Given the description of an element on the screen output the (x, y) to click on. 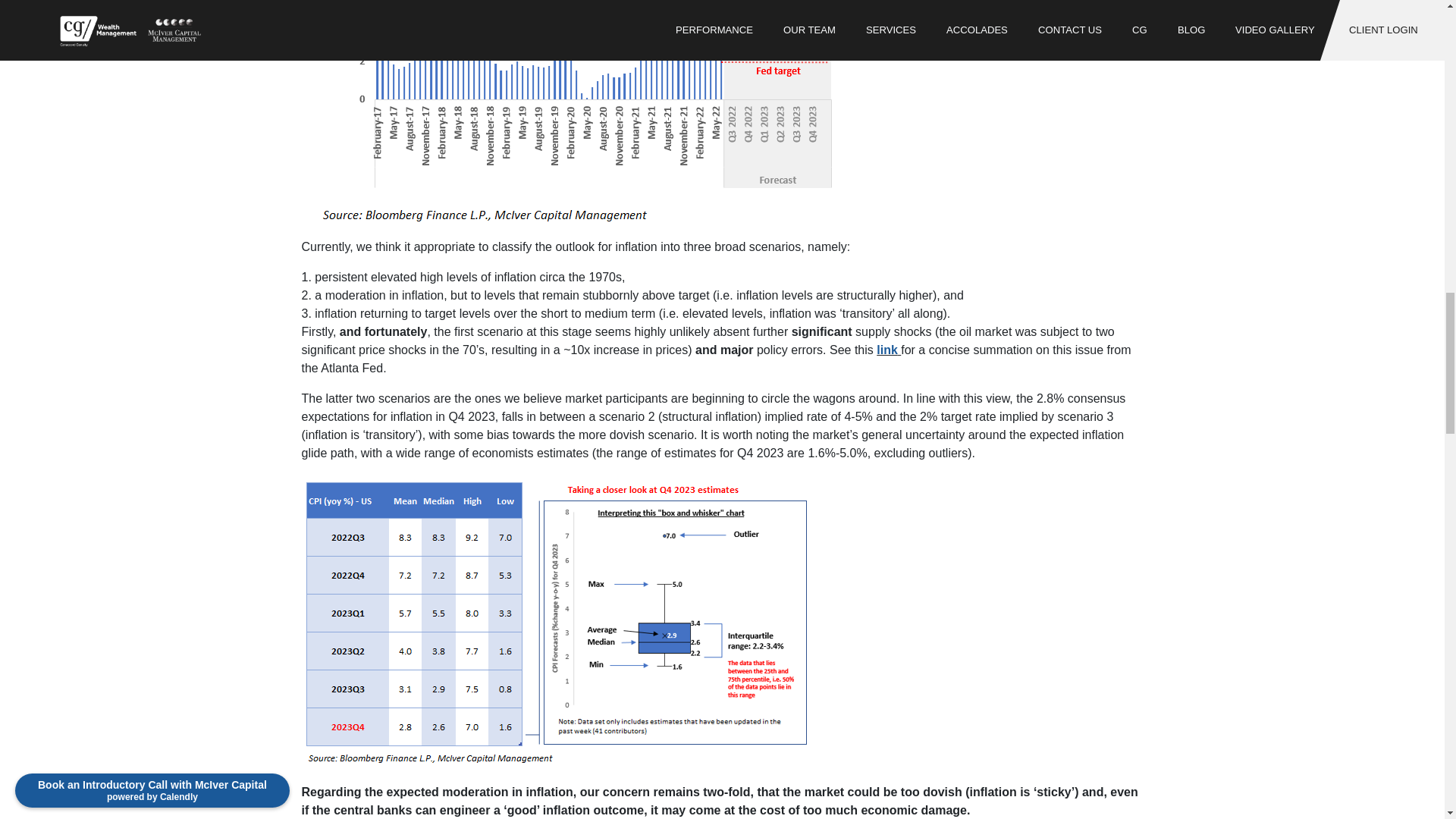
link (887, 349)
link  (887, 349)
